Given the description of an element on the screen output the (x, y) to click on. 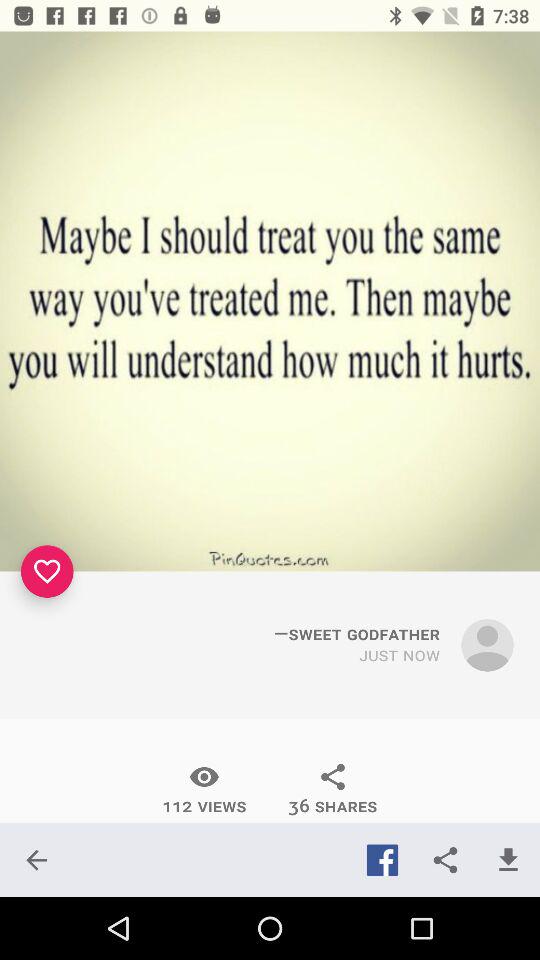
swipe until 36 shares (332, 789)
